Given the description of an element on the screen output the (x, y) to click on. 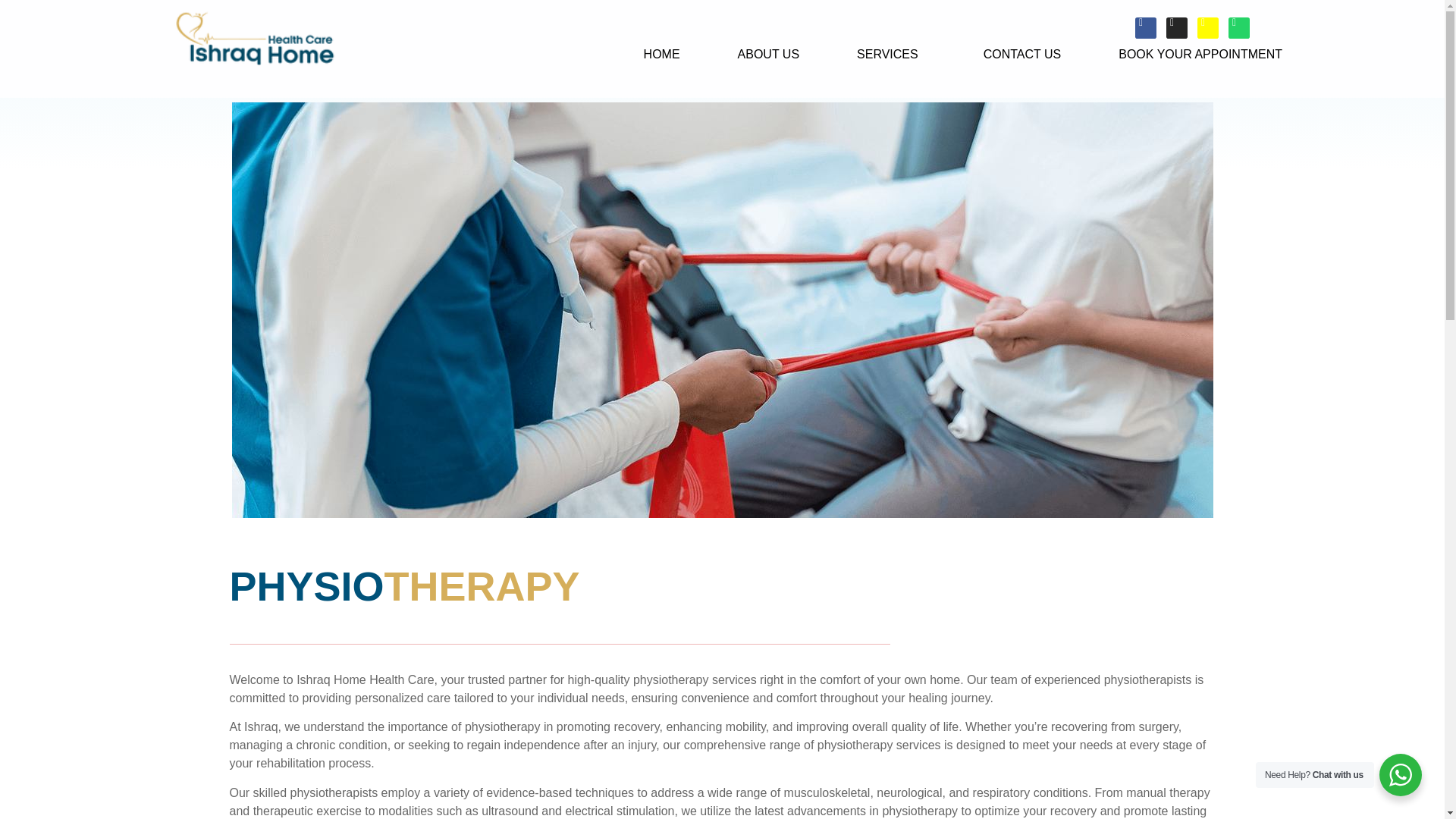
HOME (662, 54)
SERVICES (891, 54)
BOOK YOUR APPOINTMENT (1200, 54)
CONTACT US (1022, 54)
ABOUT US (768, 54)
